Given the description of an element on the screen output the (x, y) to click on. 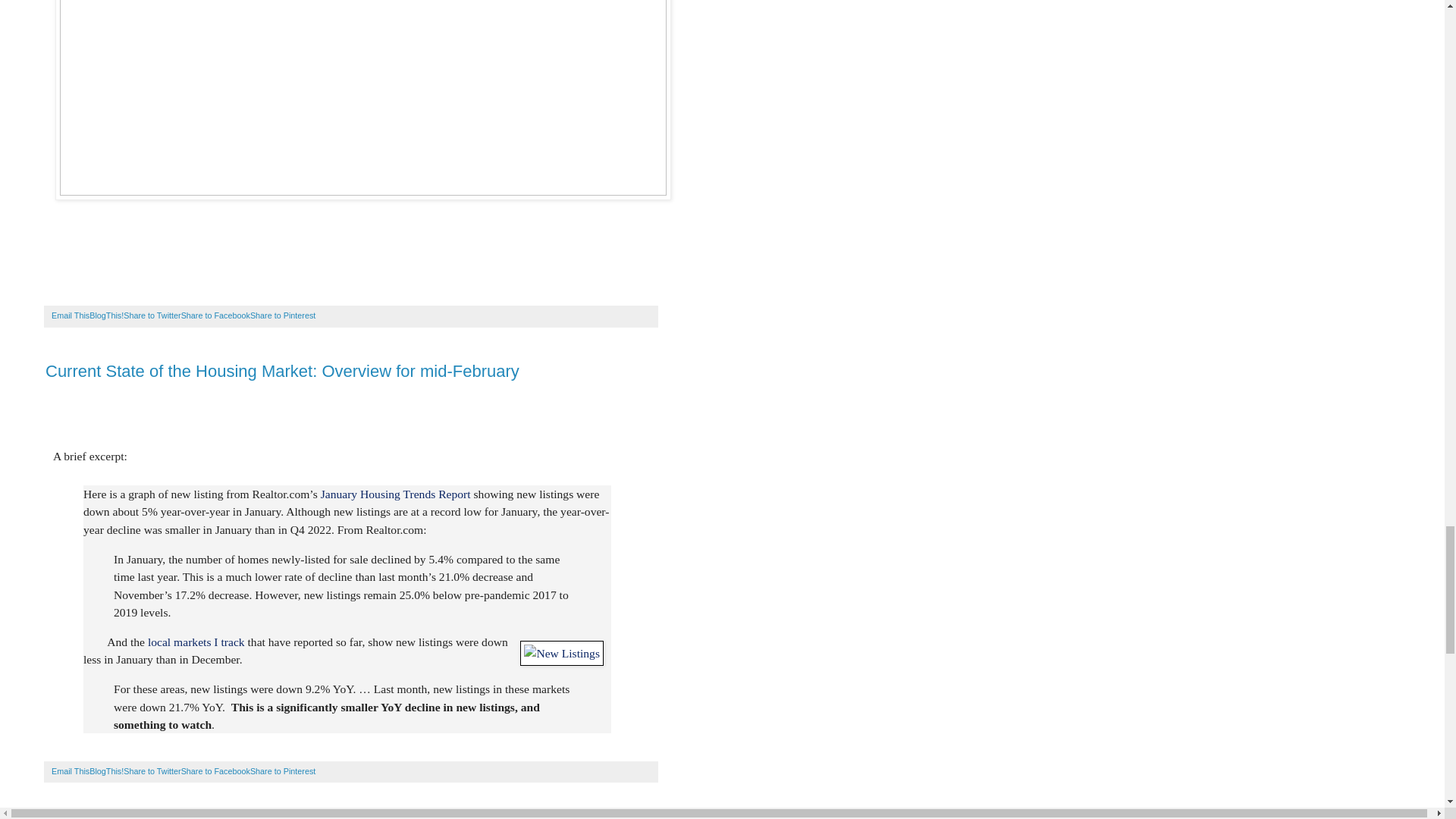
BlogThis! (105, 315)
Email This (69, 770)
Share to Pinterest (282, 315)
BlogThis! (105, 770)
Share to Twitter (151, 315)
Email This (69, 315)
Share to Facebook (215, 315)
